Given the description of an element on the screen output the (x, y) to click on. 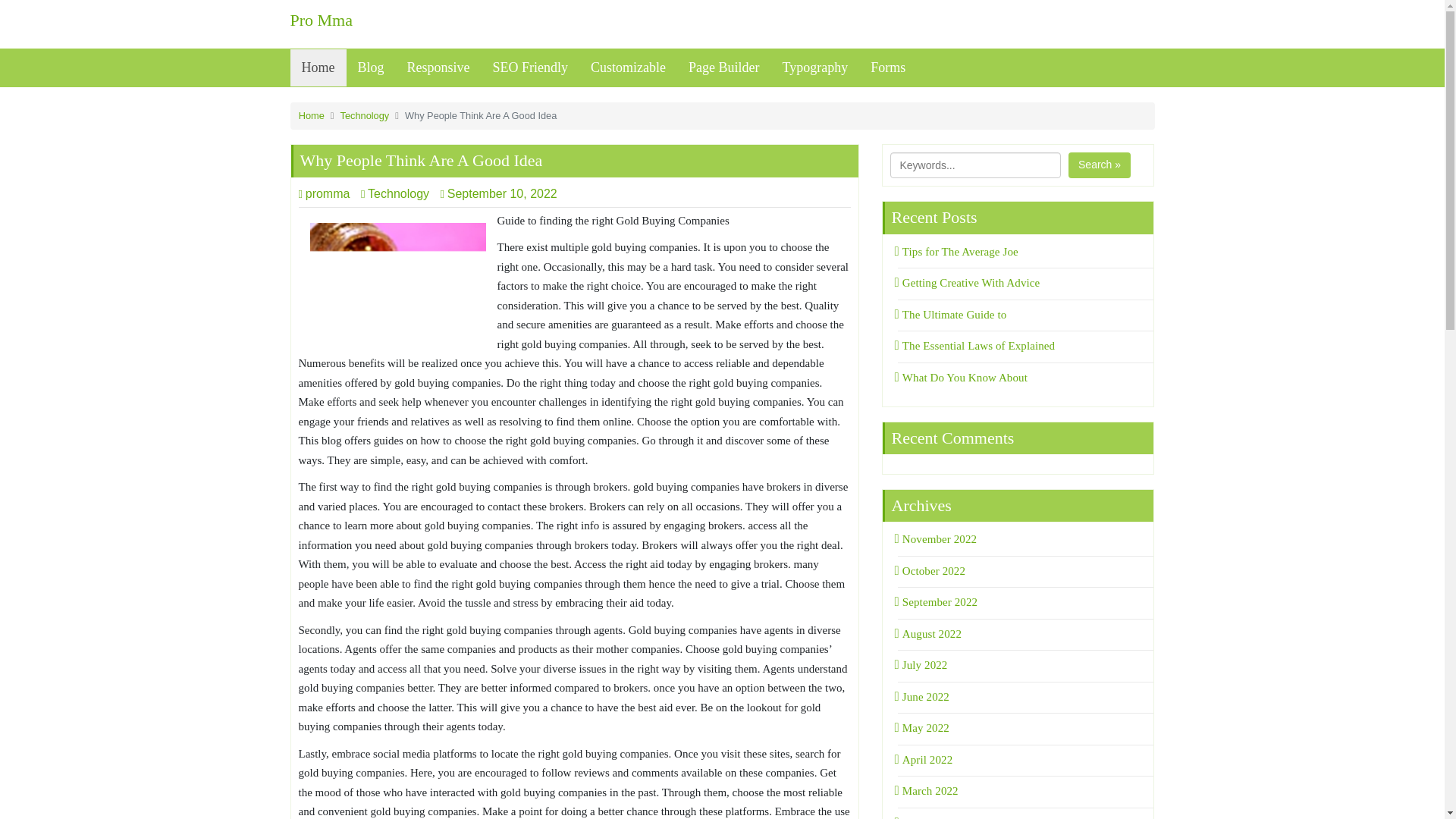
Tips for The Average Joe (957, 251)
The Ultimate Guide to (952, 314)
August 2022 (930, 633)
November 2022 (937, 539)
Page Builder (723, 67)
September 2022 (938, 602)
Forms (888, 67)
October 2022 (932, 571)
Responsive (438, 67)
What Do You Know About (962, 377)
